Given the description of an element on the screen output the (x, y) to click on. 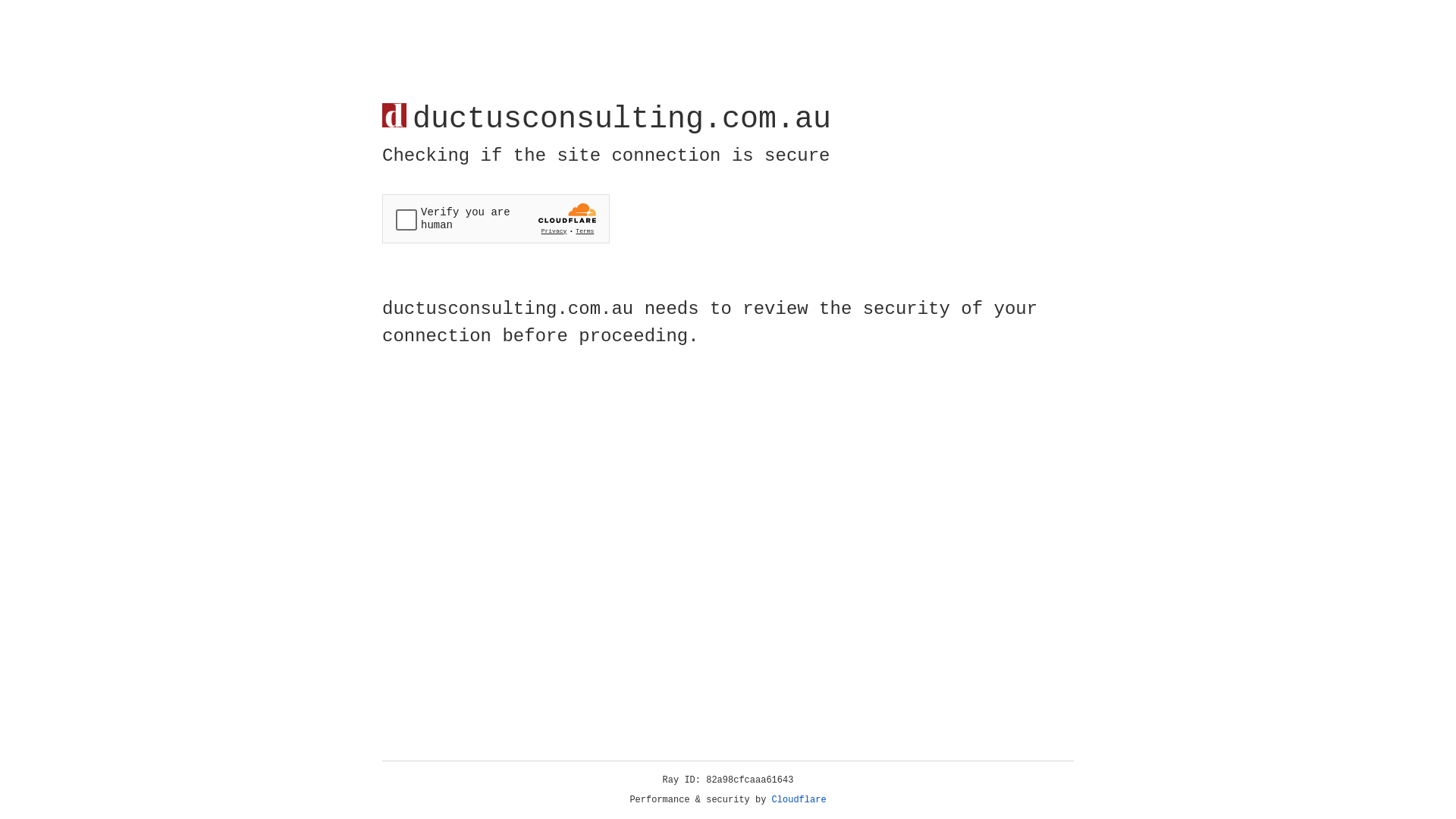
Widget containing a Cloudflare security challenge Element type: hover (495, 218)
Cloudflare Element type: text (798, 799)
